Given the description of an element on the screen output the (x, y) to click on. 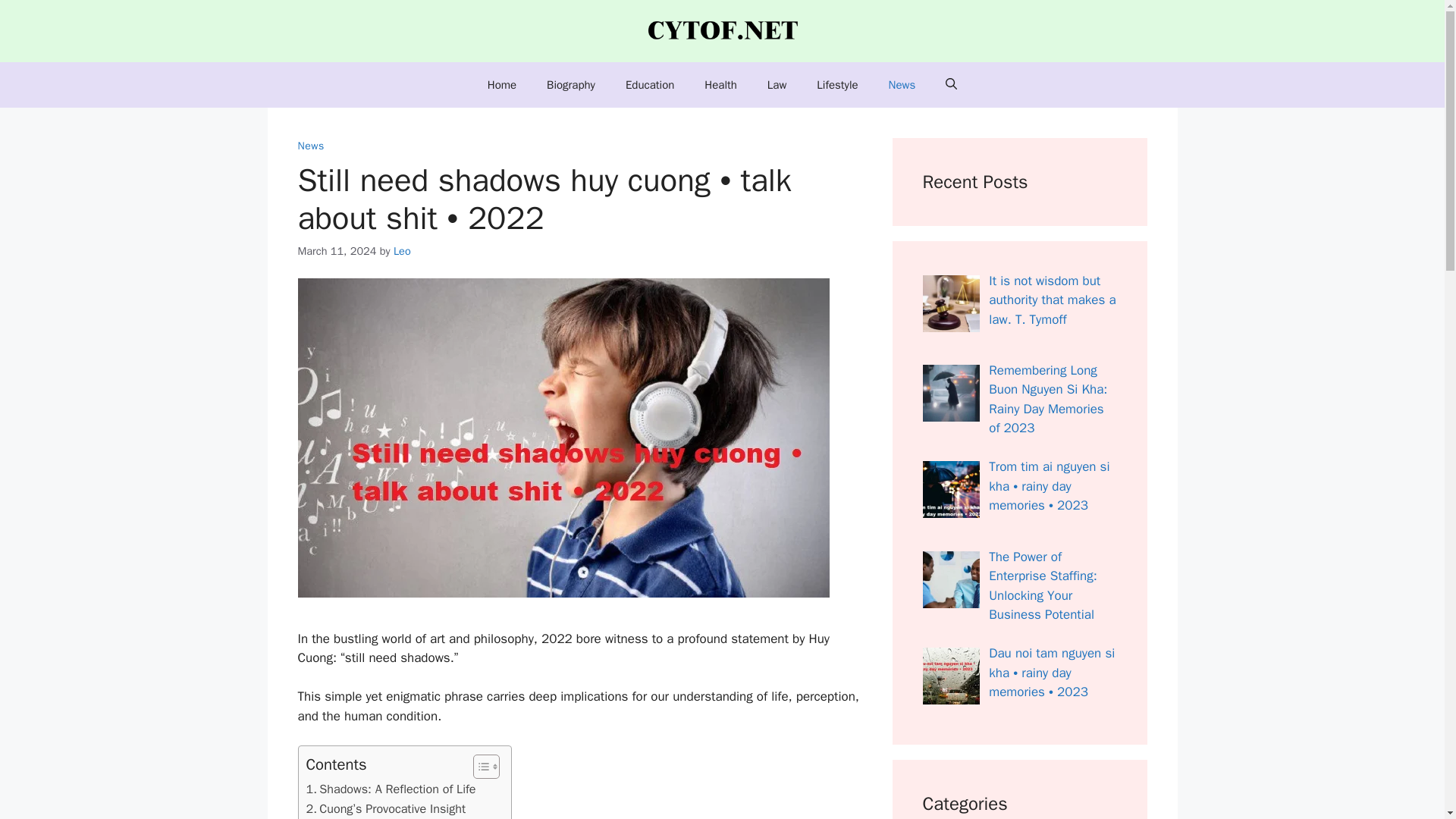
Leo (401, 250)
Law (777, 84)
Shadows: A Reflection of Life (390, 789)
Lifestyle (837, 84)
It is not wisdom but authority that makes a law. T. Tymoff (1051, 299)
Biography (570, 84)
Health (720, 84)
Shadows: A Reflection of Life (390, 789)
Education (649, 84)
News (310, 145)
News (902, 84)
